Given the description of an element on the screen output the (x, y) to click on. 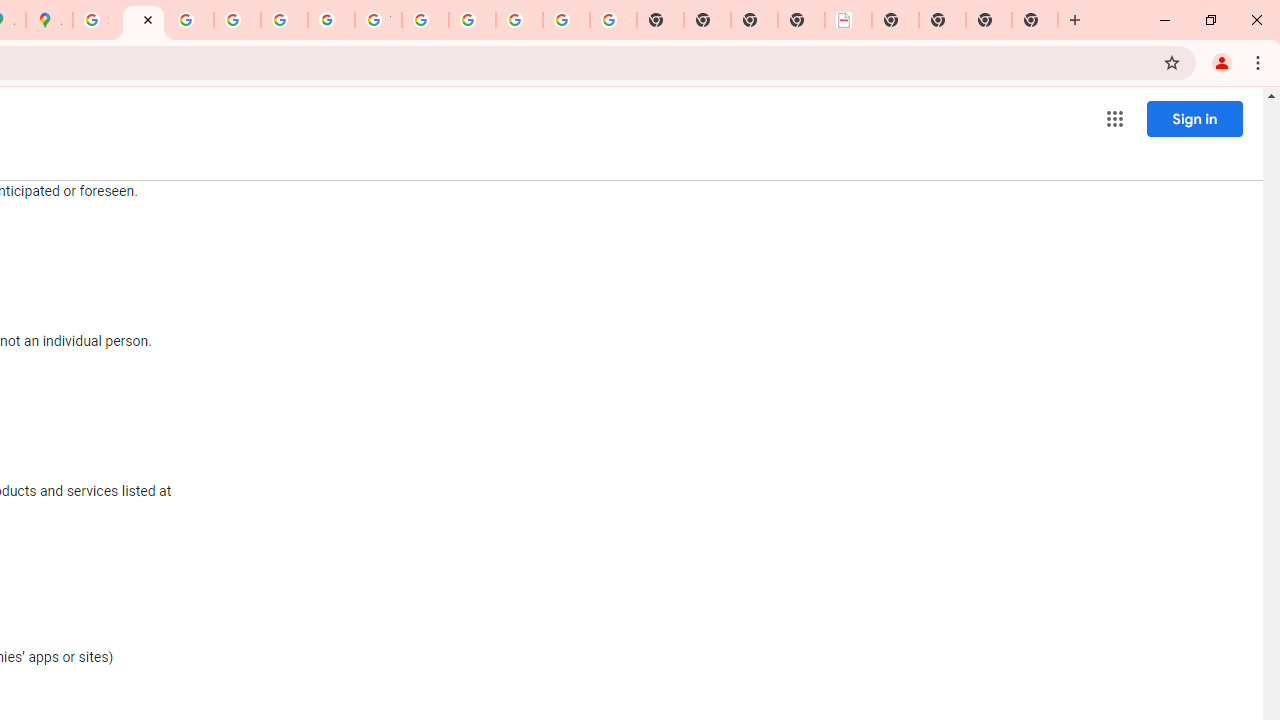
YouTube (377, 20)
New Tab (1035, 20)
LAAD Defence & Security 2025 | BAE Systems (848, 20)
New Tab (989, 20)
